Given the description of an element on the screen output the (x, y) to click on. 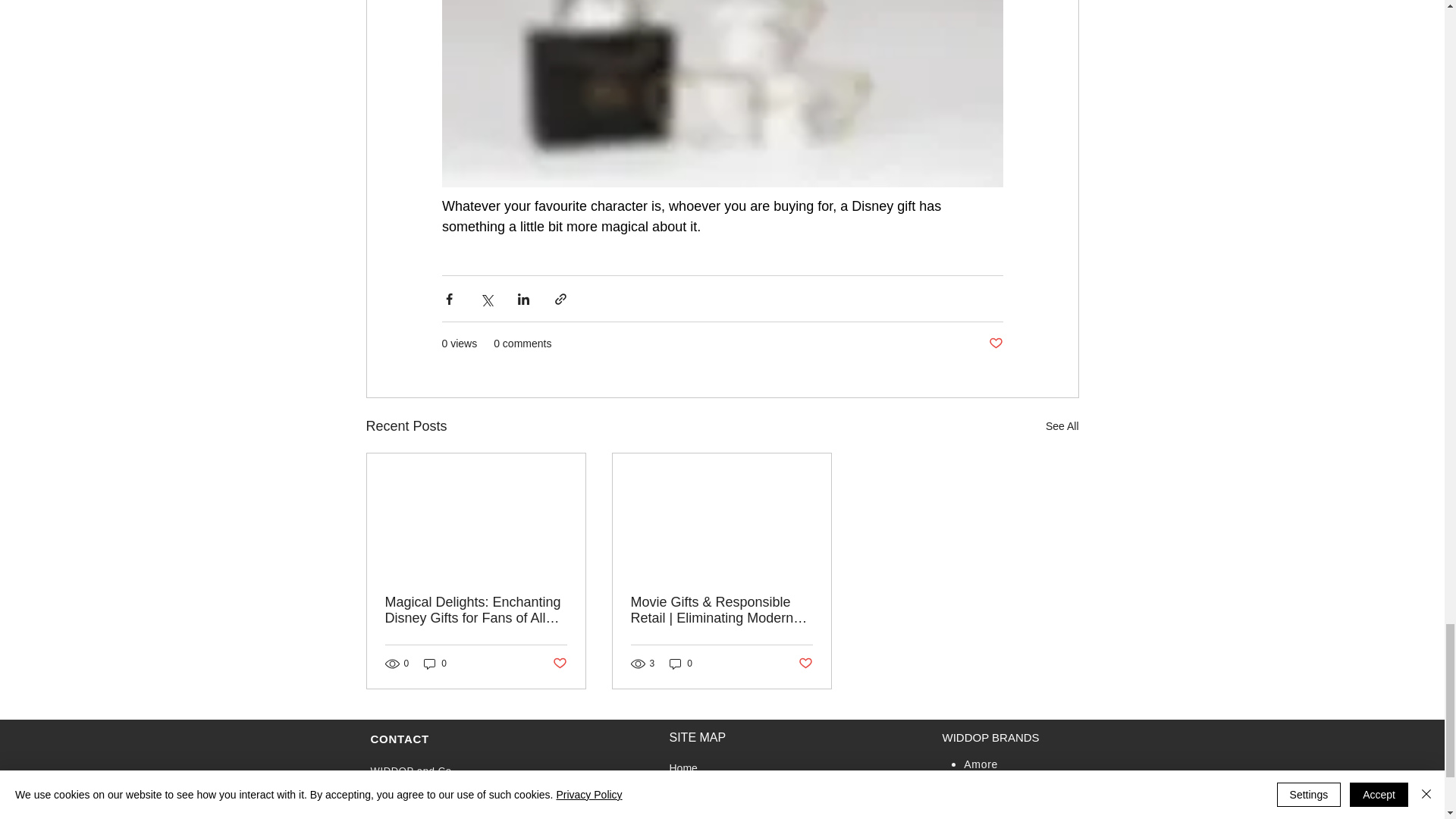
Post not marked as liked (995, 343)
Post not marked as liked (558, 663)
0 (435, 663)
Hestia (980, 818)
0 (681, 663)
Post not marked as liked (804, 663)
Bambino (986, 779)
Amore (980, 764)
See All (1061, 426)
